Given the description of an element on the screen output the (x, y) to click on. 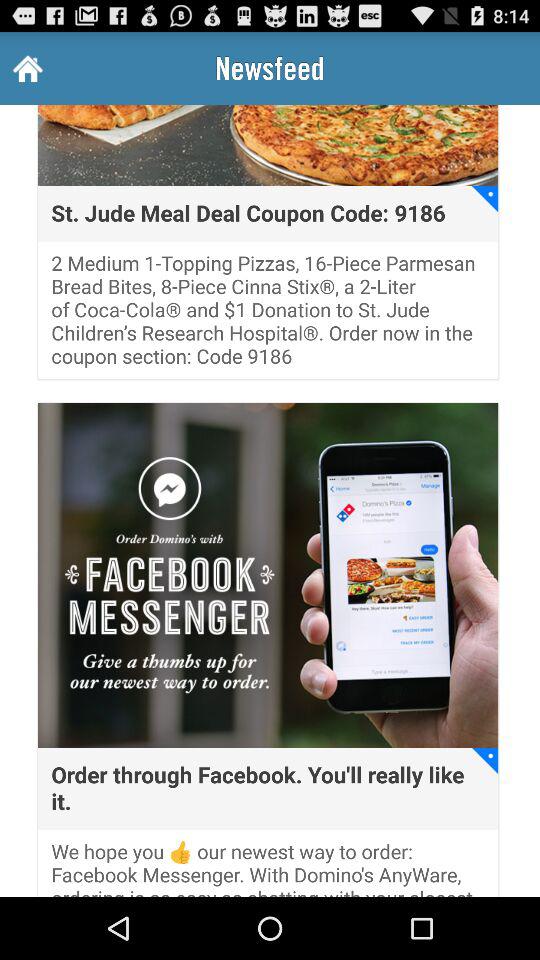
turn off icon to the left of newsfeed item (26, 68)
